Given the description of an element on the screen output the (x, y) to click on. 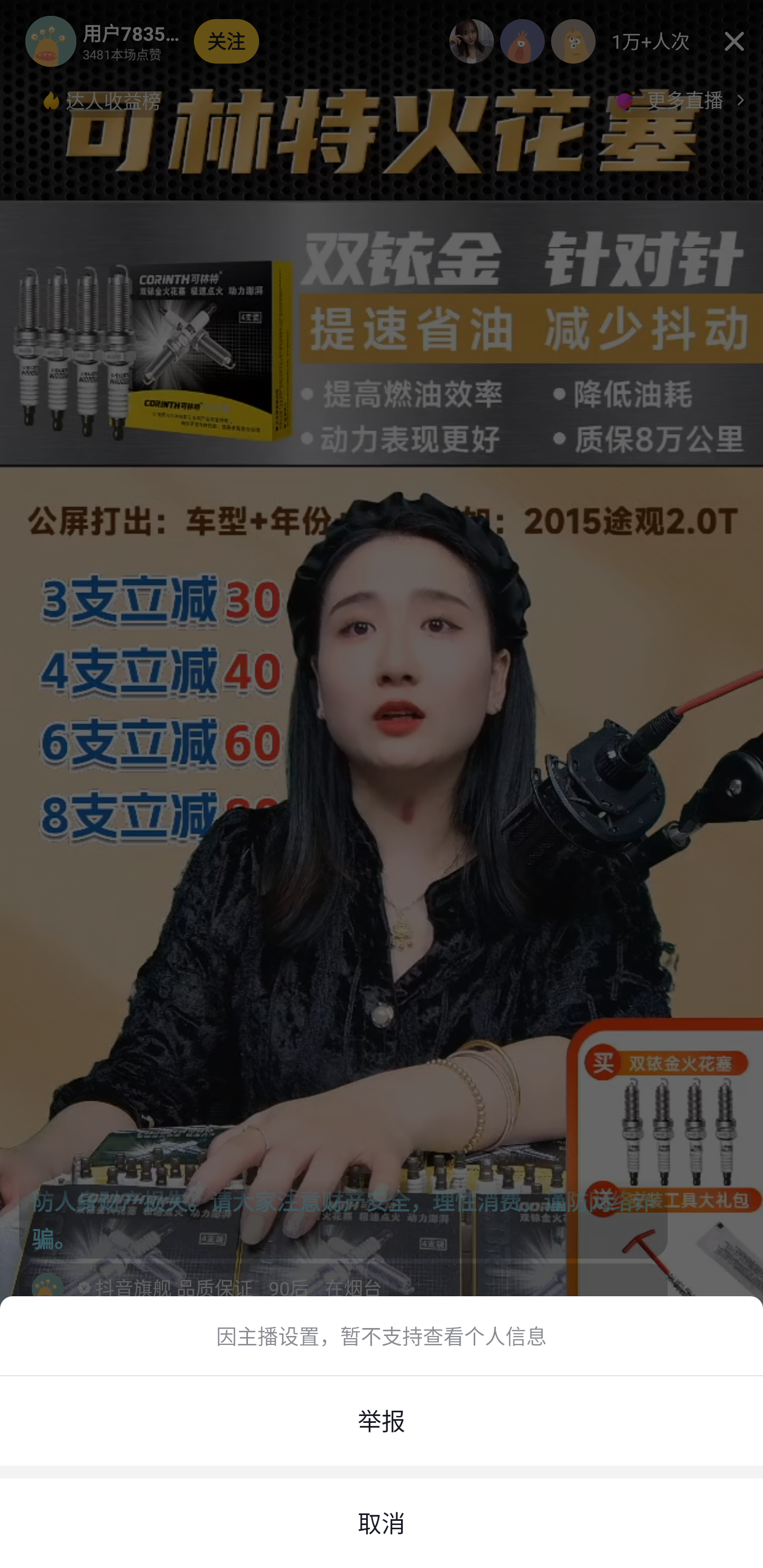
举报 (381, 1421)
取消 (381, 1523)
